Given the description of an element on the screen output the (x, y) to click on. 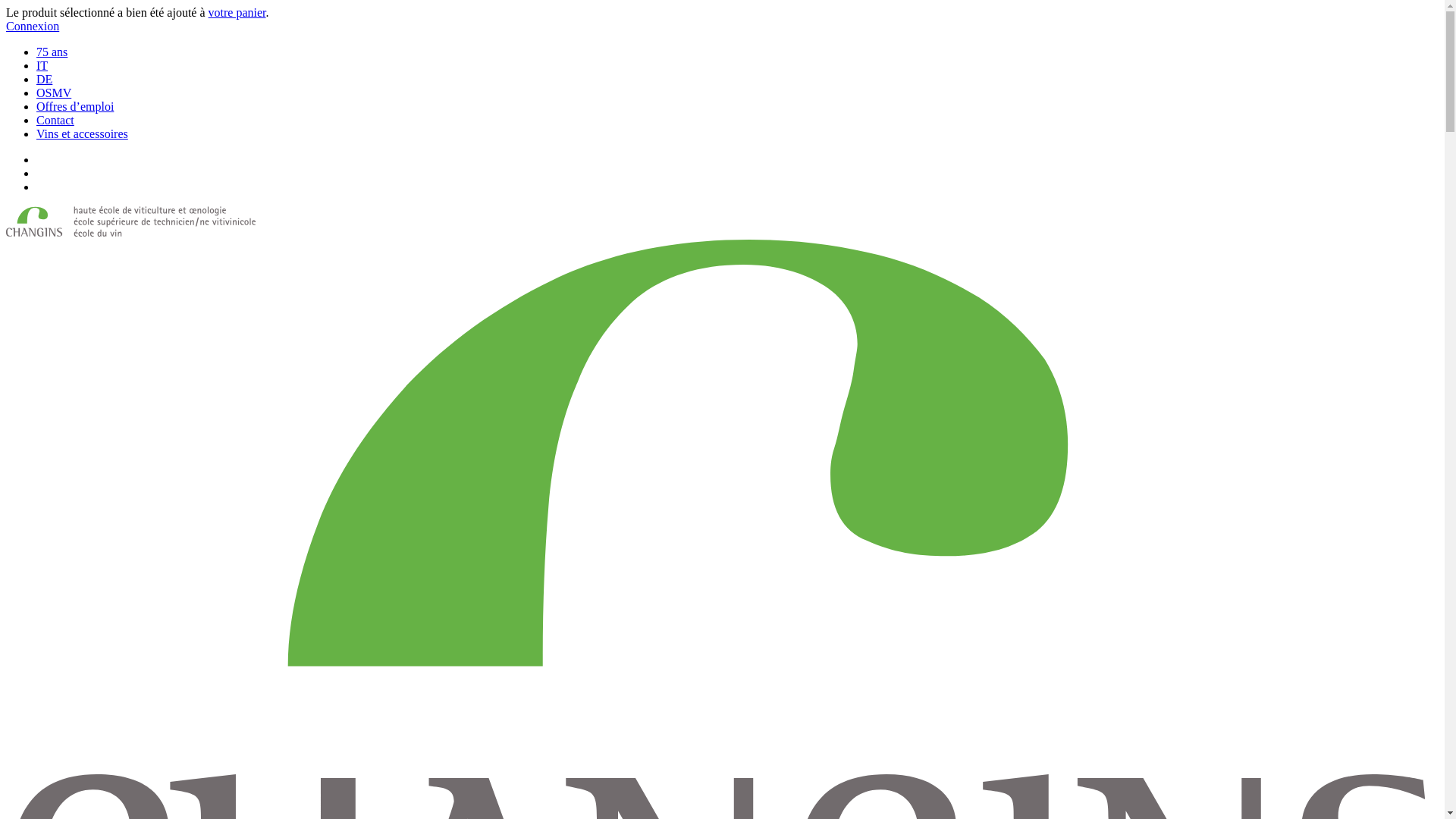
Vins et accessoires Element type: text (82, 133)
DE Element type: text (44, 78)
Contact Element type: text (55, 119)
votre panier Element type: text (237, 12)
OSMV Element type: text (53, 92)
IT Element type: text (41, 65)
Connexion Element type: text (32, 25)
75 ans Element type: text (51, 51)
